Given the description of an element on the screen output the (x, y) to click on. 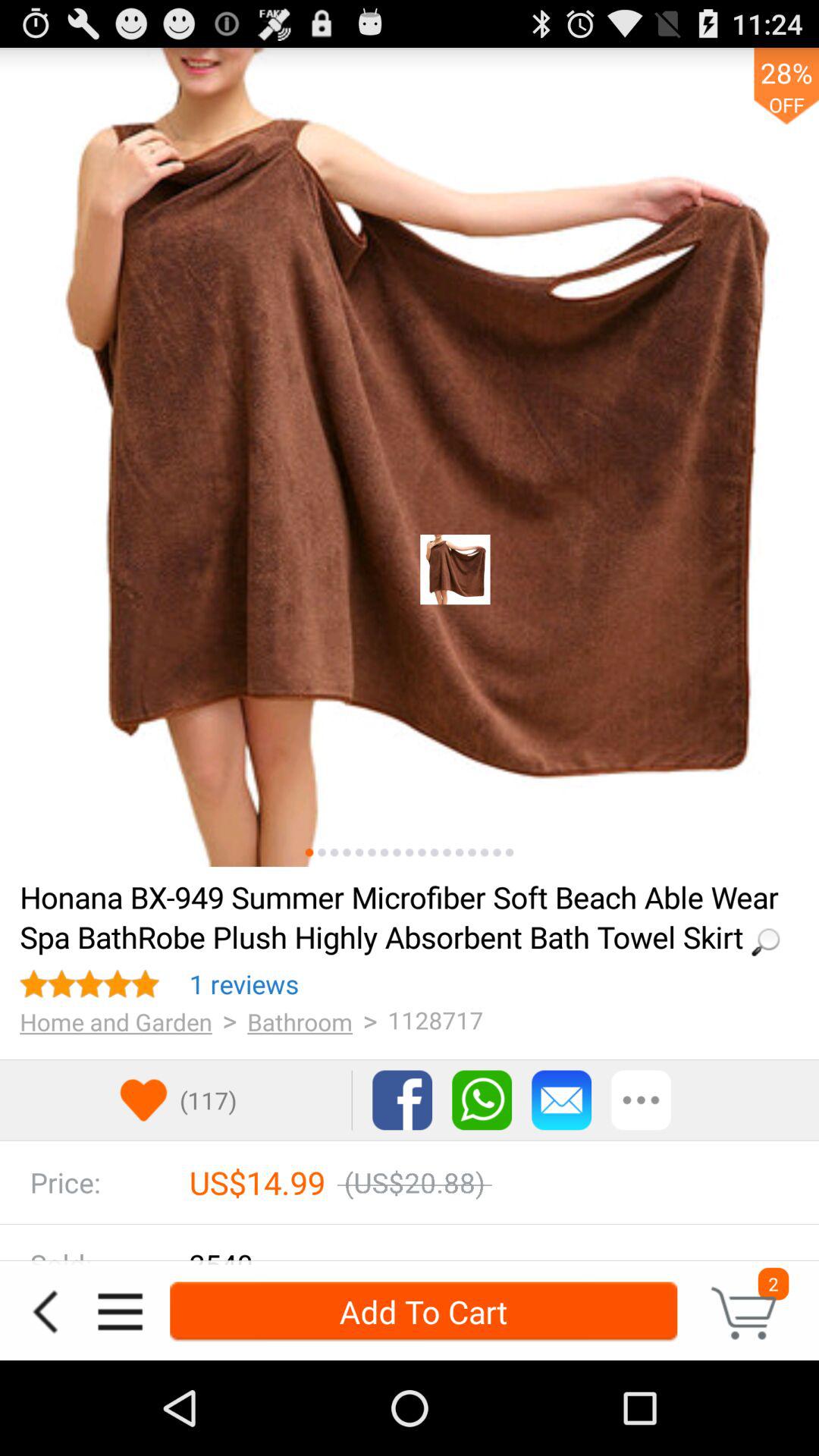
choose item above > app (244, 983)
